Given the description of an element on the screen output the (x, y) to click on. 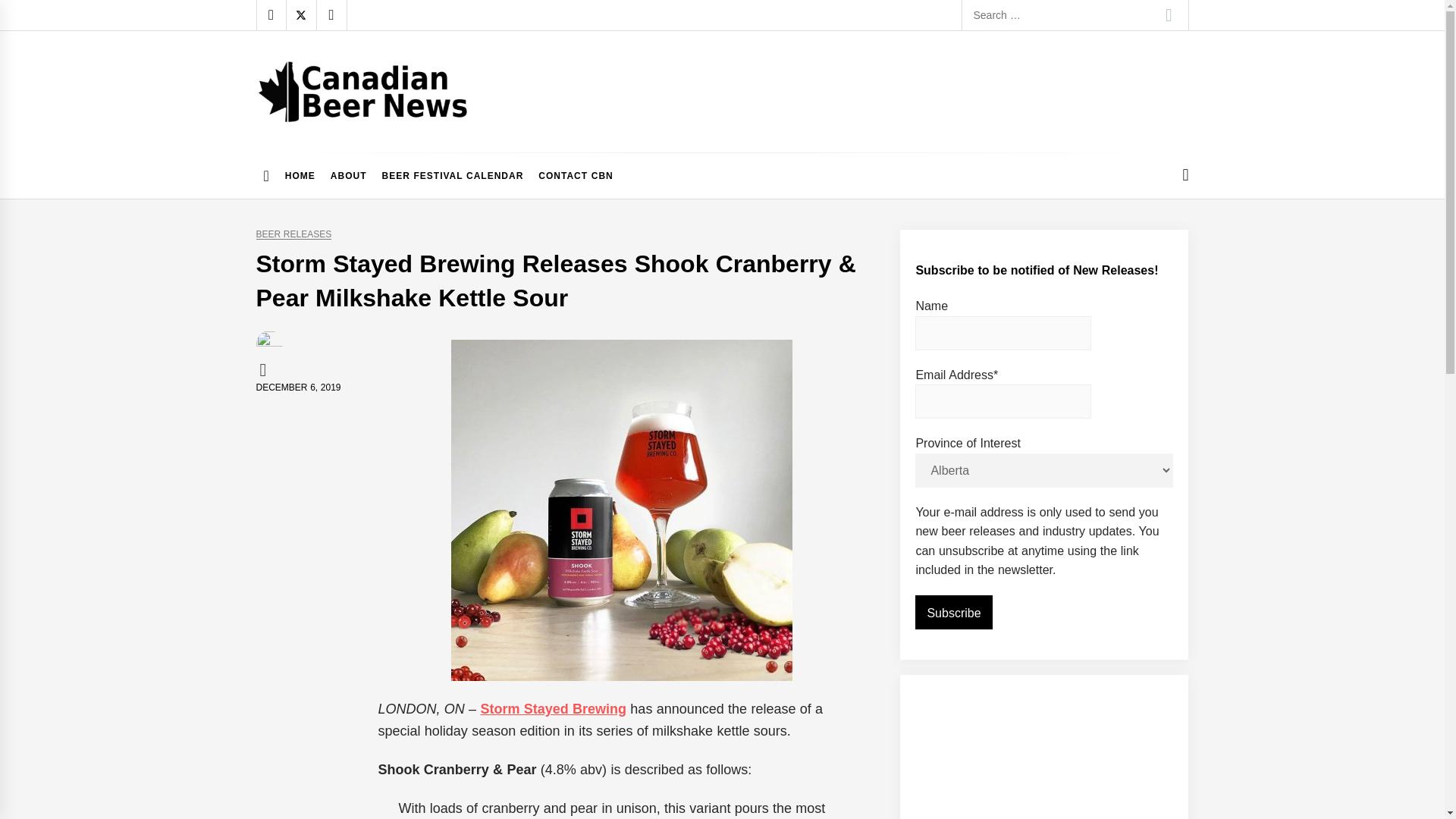
Subscribe (953, 612)
Search (1169, 15)
Canadian Beer News (384, 136)
BEER FESTIVAL CALENDAR (452, 176)
DECEMBER 6, 2019 (298, 387)
HOME (300, 176)
Search (1169, 15)
ABOUT (348, 176)
BEER RELEASES (293, 234)
CONTACT CBN (575, 176)
Storm Stayed Brewing (553, 708)
Search (1169, 15)
CBN (265, 368)
Subscribe (953, 612)
